Given the description of an element on the screen output the (x, y) to click on. 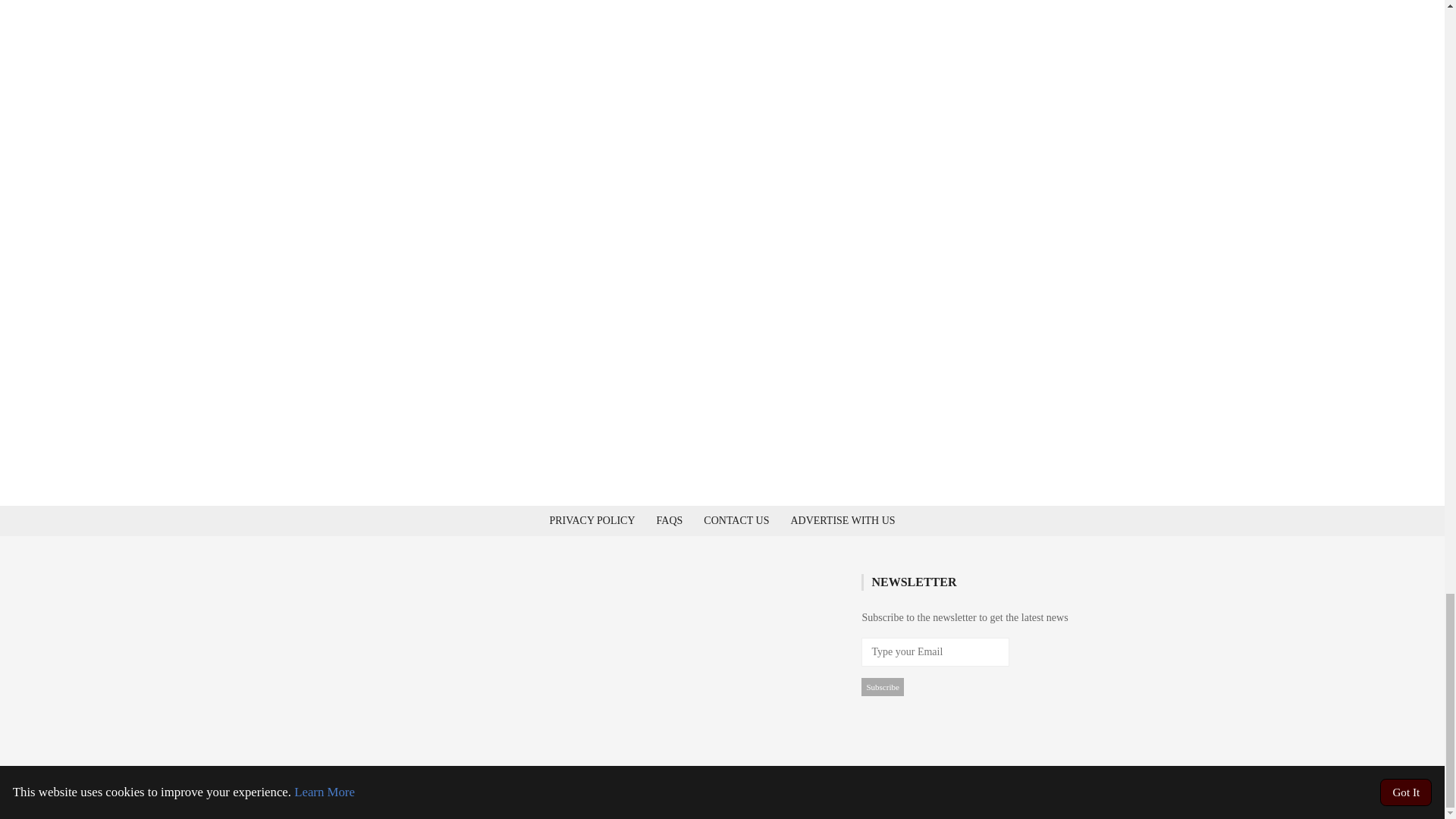
Subscribe (881, 687)
